Given the description of an element on the screen output the (x, y) to click on. 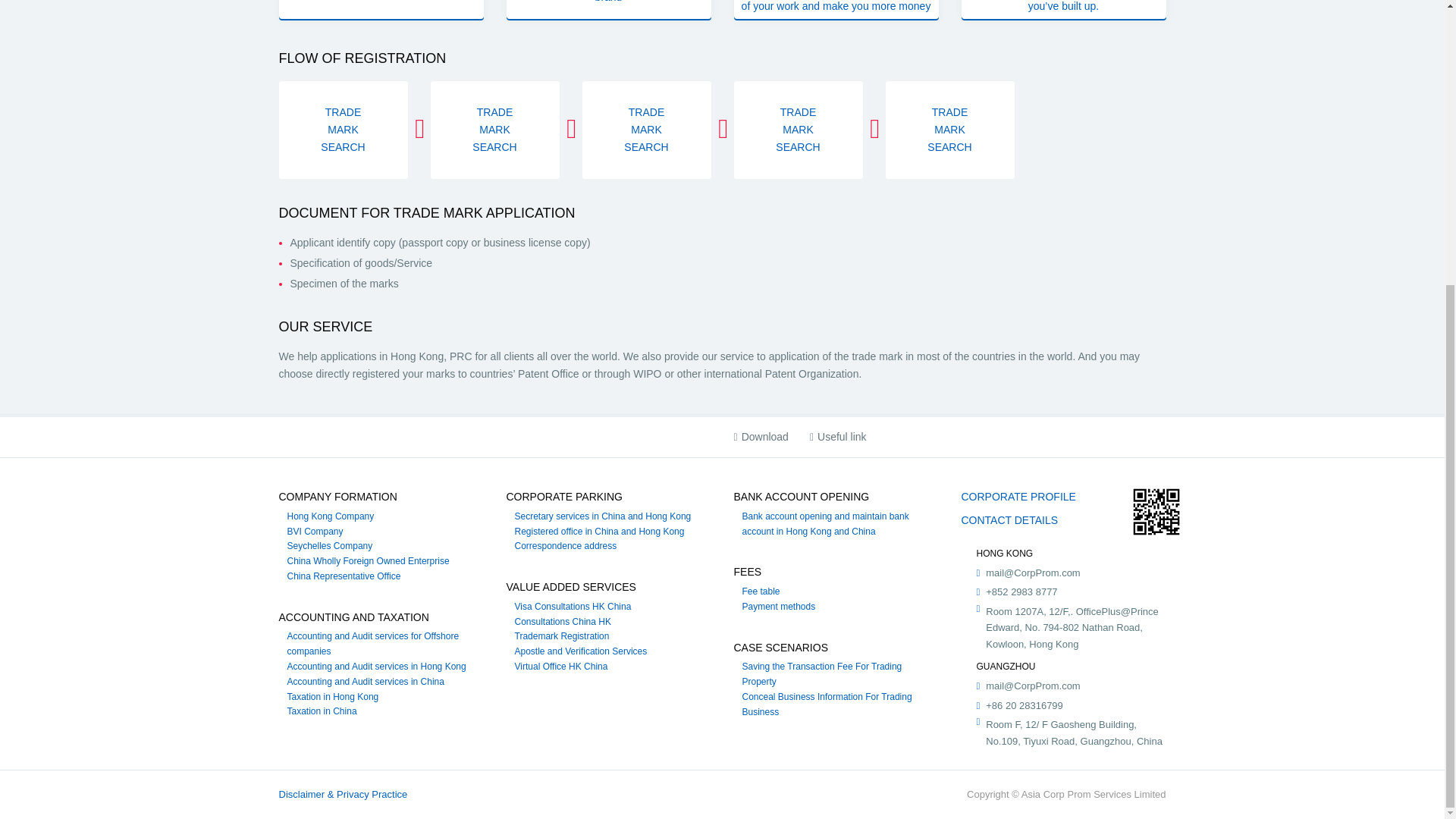
Seychelles Company (329, 545)
Download (761, 436)
Useful link (837, 436)
Hong Kong Company (330, 516)
BVI Company (314, 531)
